Given the description of an element on the screen output the (x, y) to click on. 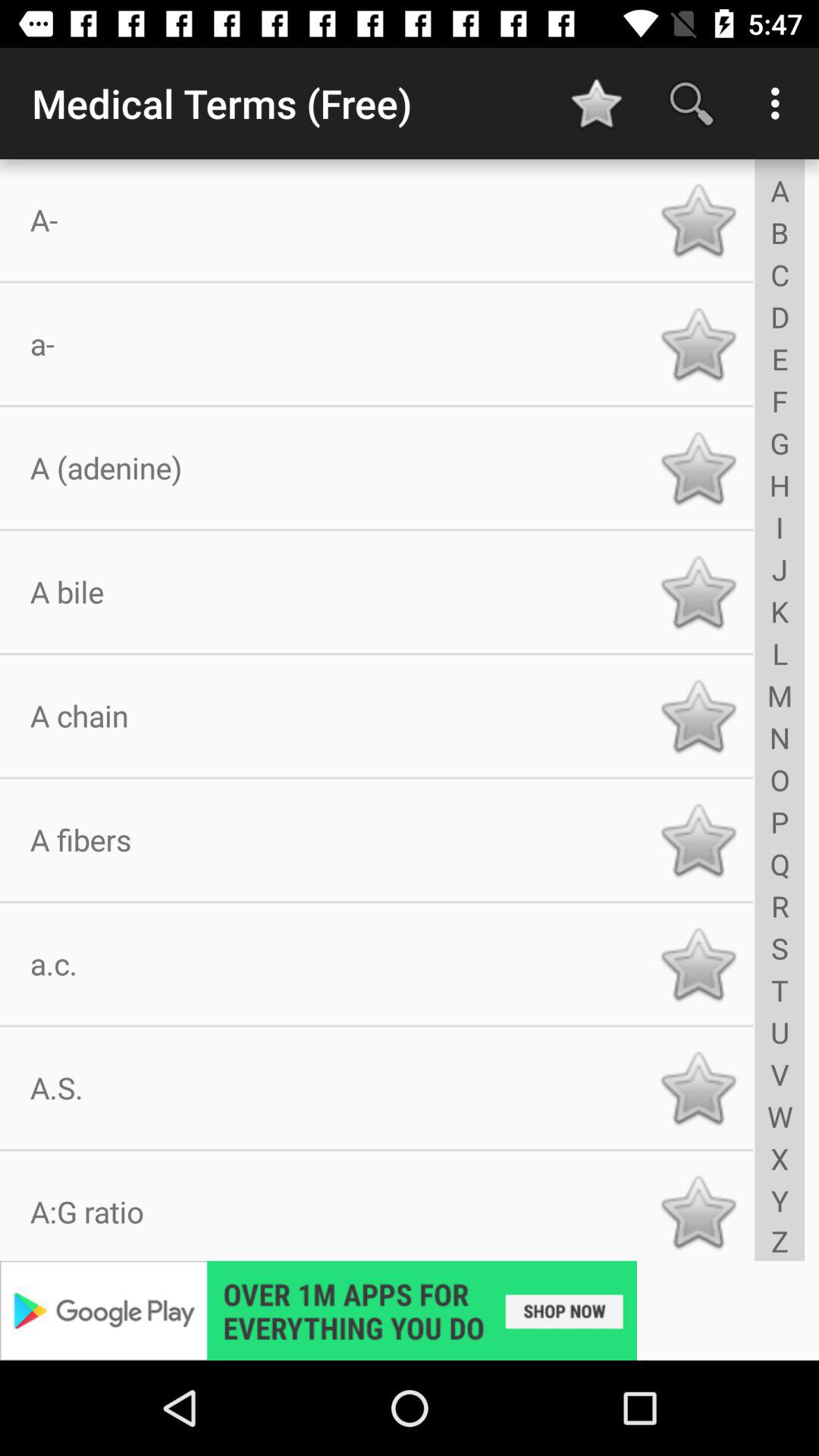
icon page (697, 1087)
